Given the description of an element on the screen output the (x, y) to click on. 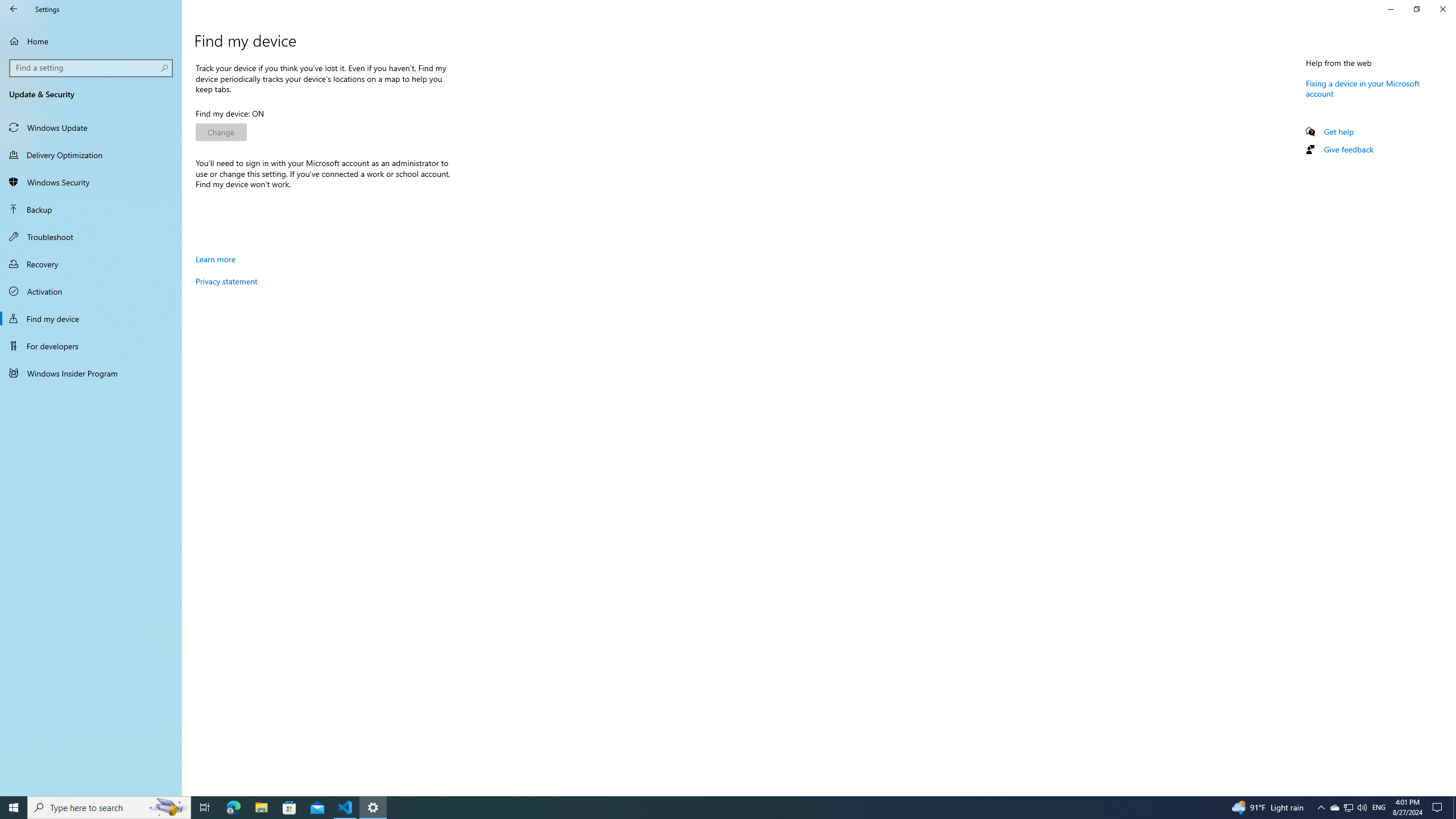
Fixing a device in your Microsoft account (1362, 87)
Troubleshoot (91, 236)
Privacy statement (226, 281)
Find my device (91, 318)
Backup (91, 208)
Windows Insider Program (91, 372)
Activation (91, 290)
